Given the description of an element on the screen output the (x, y) to click on. 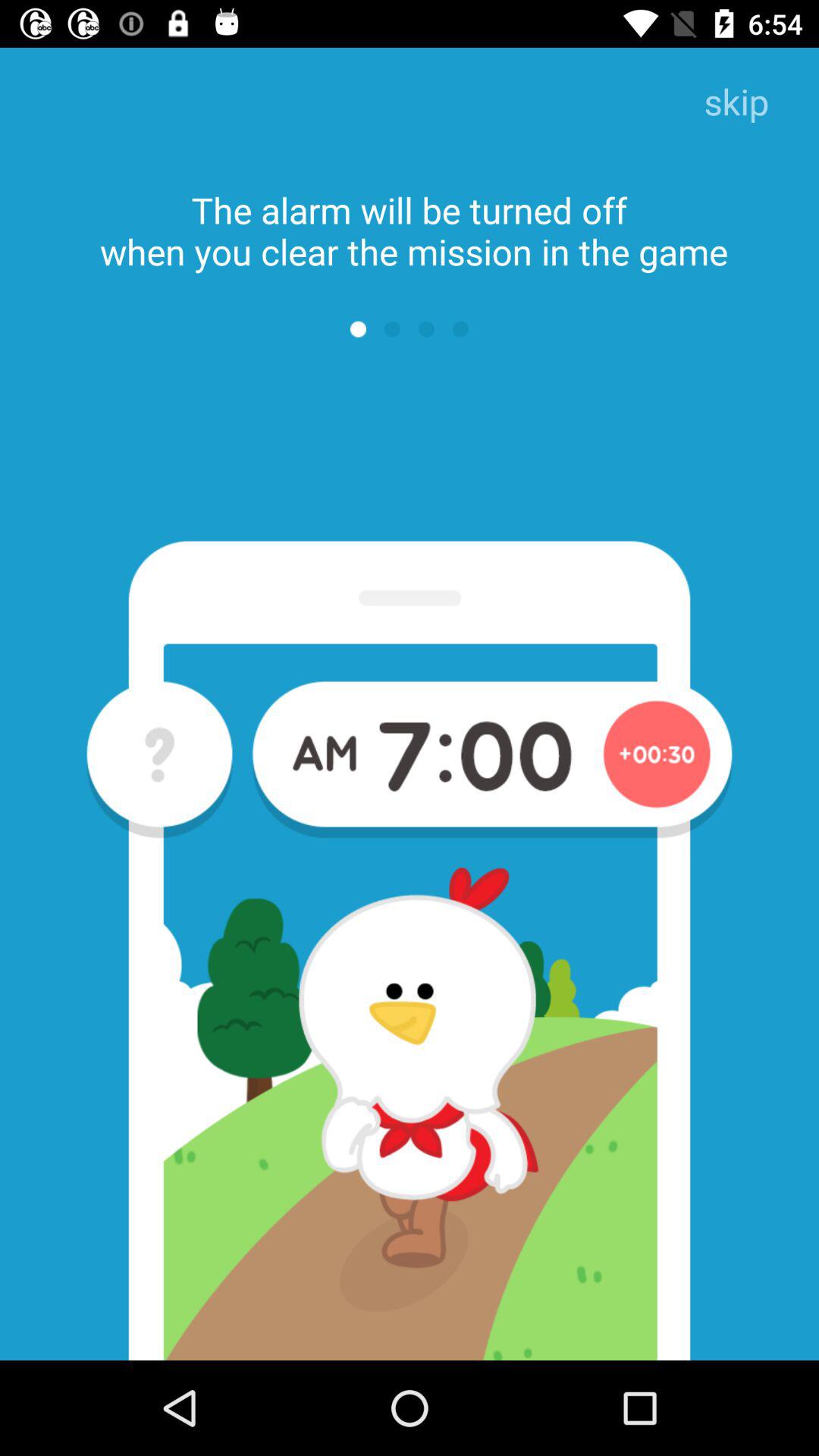
scroll until skip item (736, 103)
